Given the description of an element on the screen output the (x, y) to click on. 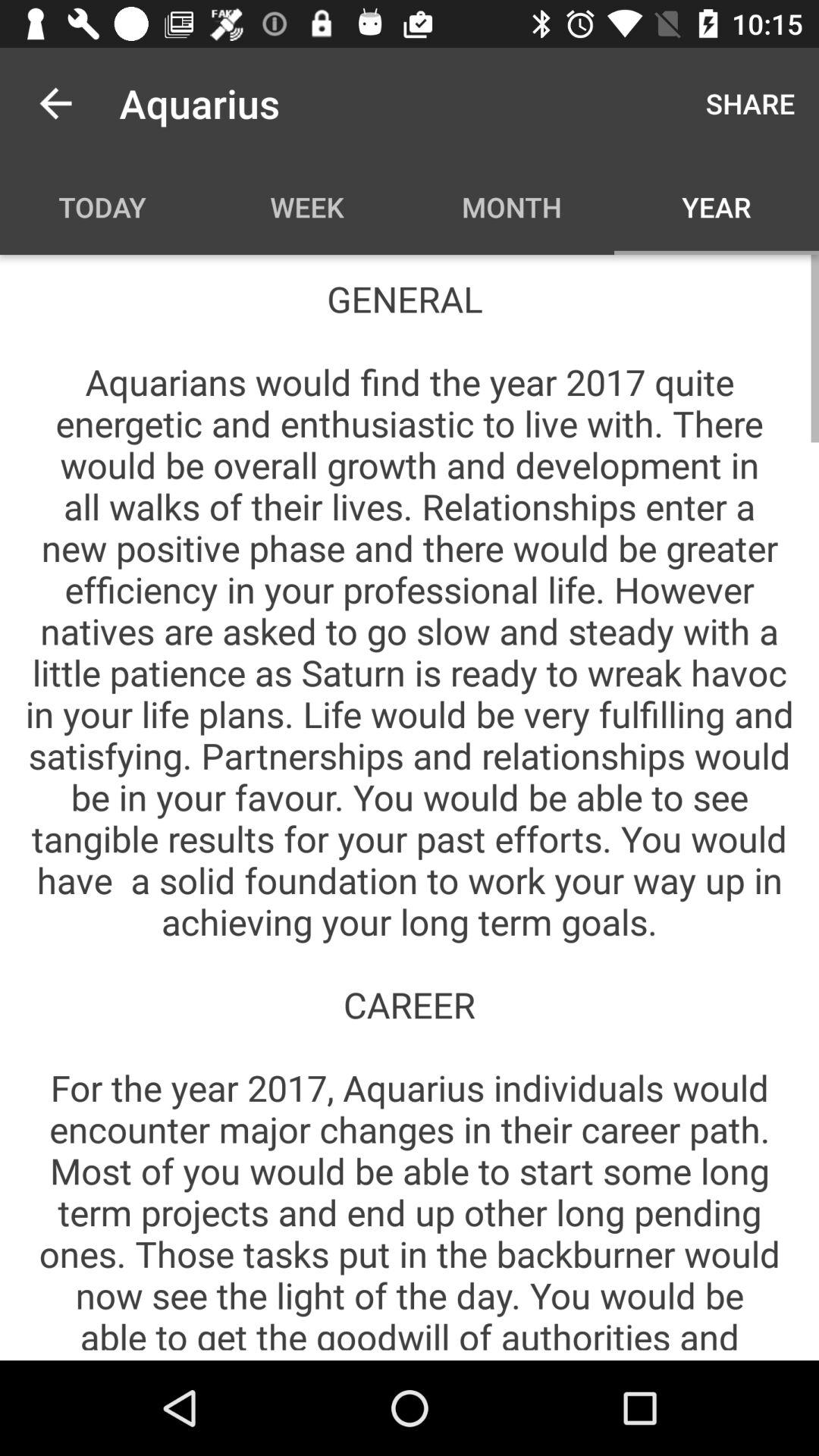
select the icon next to the aquarius (750, 103)
